Given the description of an element on the screen output the (x, y) to click on. 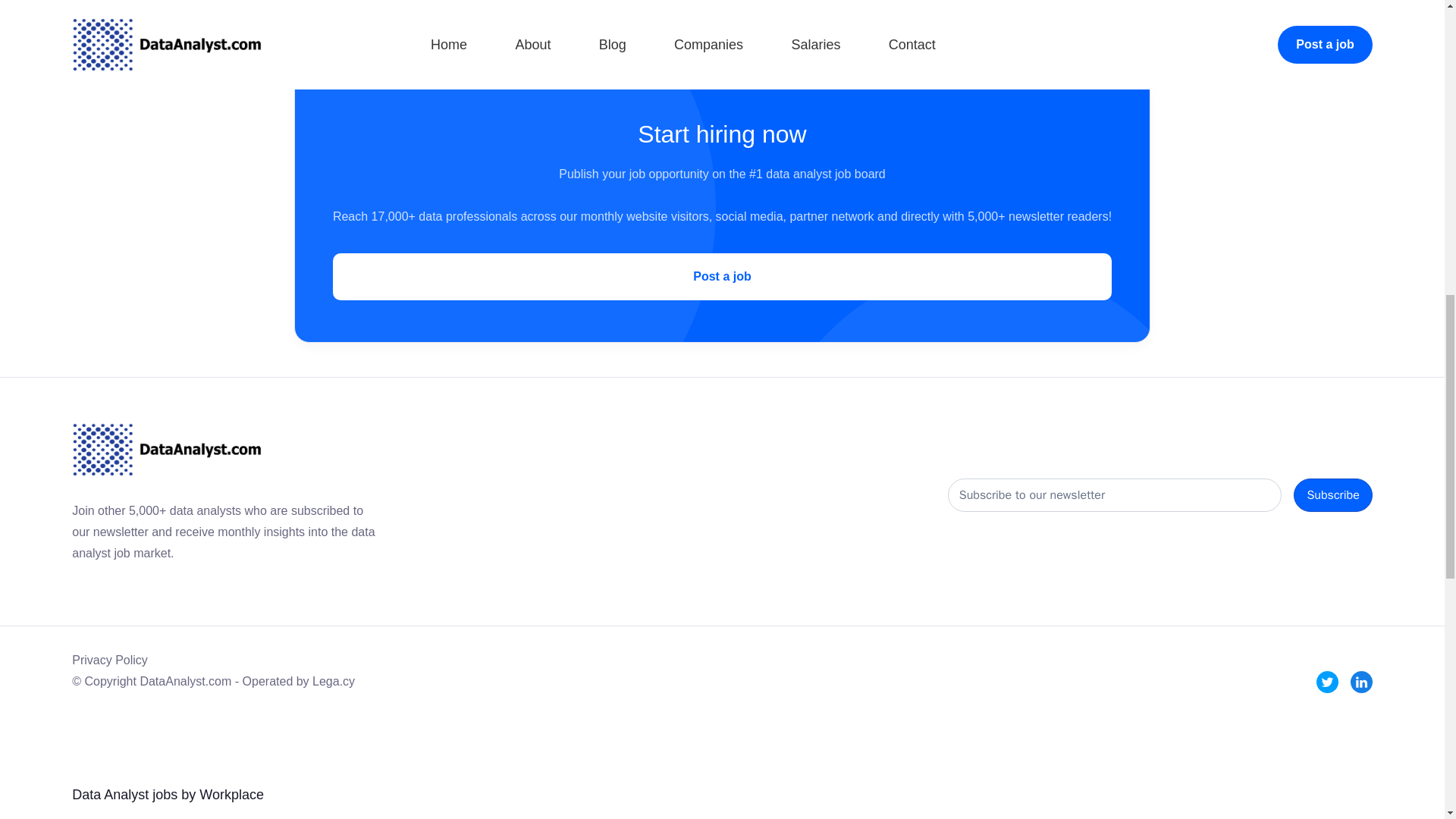
Subscribe (1332, 494)
Privacy Policy (109, 660)
Post a job (722, 276)
Subscribe (1332, 494)
